Given the description of an element on the screen output the (x, y) to click on. 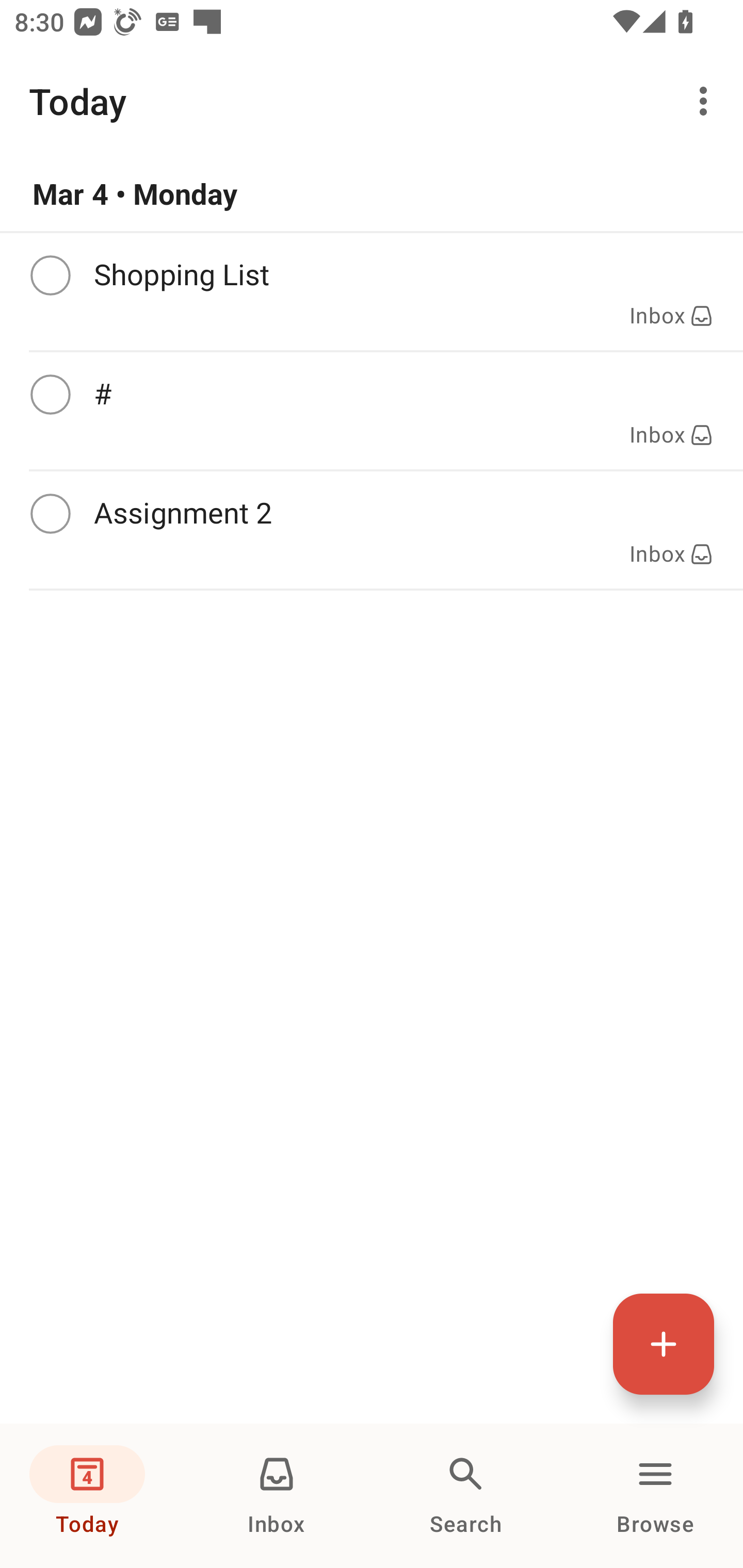
Today More options (371, 100)
More options (706, 101)
Mar 4 • Monday (371, 194)
Complete Shopping List Inbox (371, 291)
Complete (50, 275)
Complete # Inbox (371, 410)
Complete (50, 395)
Complete Assignment 2 Inbox (371, 529)
Complete (50, 514)
Quick add (663, 1343)
Inbox (276, 1495)
Search (465, 1495)
Browse (655, 1495)
